Given the description of an element on the screen output the (x, y) to click on. 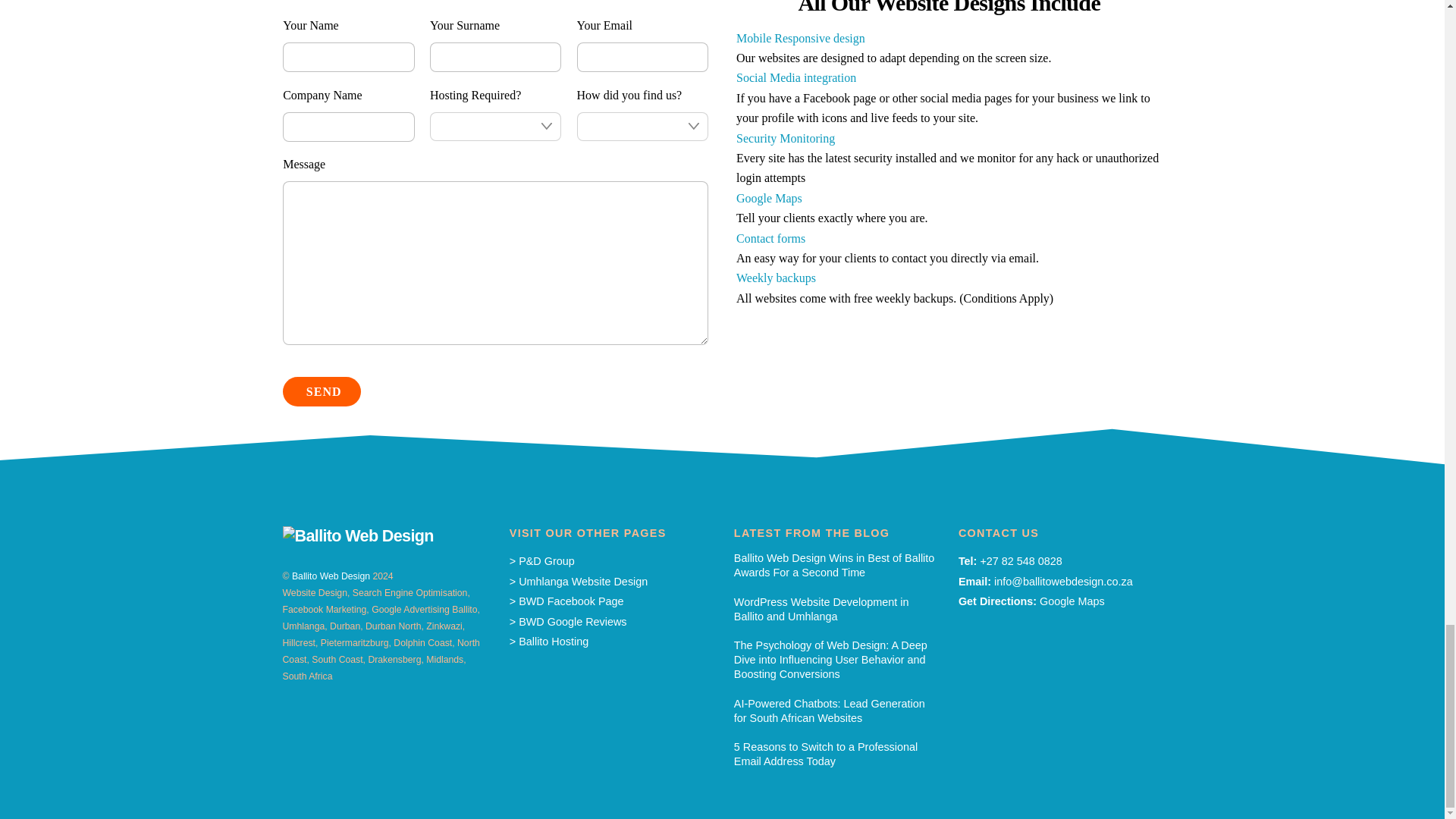
SEND (321, 391)
Ballito Web Design (357, 535)
WordPress Website Development in Ballito and Umhlanga (835, 609)
Google Maps (1072, 601)
5 Reasons to Switch to a Professional Email Address Today (835, 754)
